Given the description of an element on the screen output the (x, y) to click on. 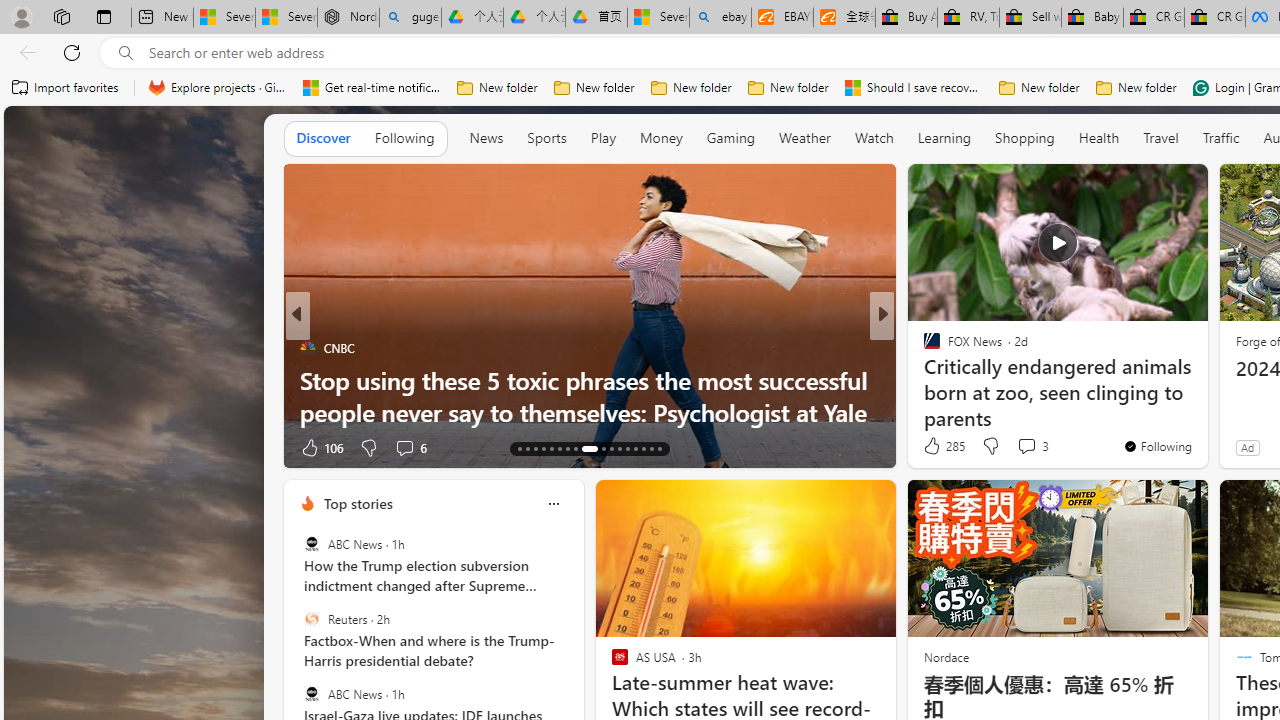
Shopping (1025, 138)
View comments 1 Comment (1007, 447)
View comments 1 Comment (1013, 447)
Gaming (730, 137)
Play (602, 137)
Komando (923, 380)
243 Like (936, 447)
Reuters (311, 619)
